Given the description of an element on the screen output the (x, y) to click on. 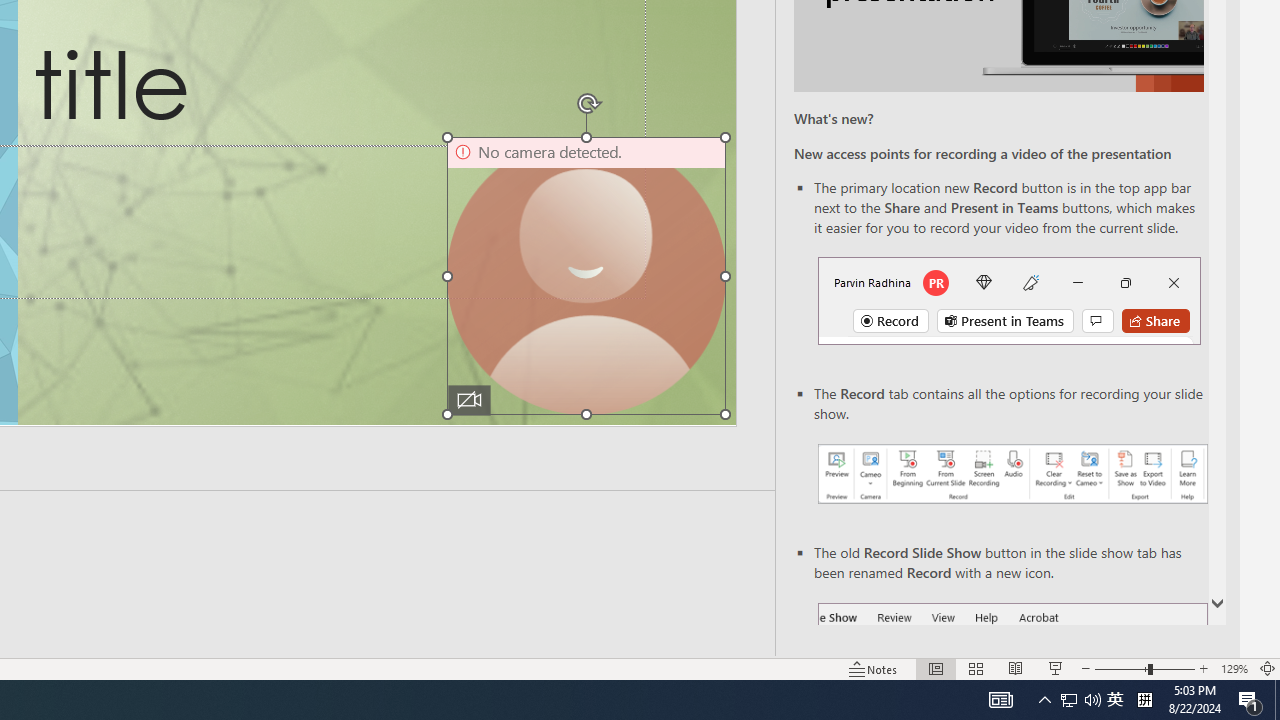
Zoom 129% (1234, 668)
Record your presentations screenshot one (1012, 473)
Record button in top bar (1008, 300)
Camera 9, No camera detected. (586, 275)
